Given the description of an element on the screen output the (x, y) to click on. 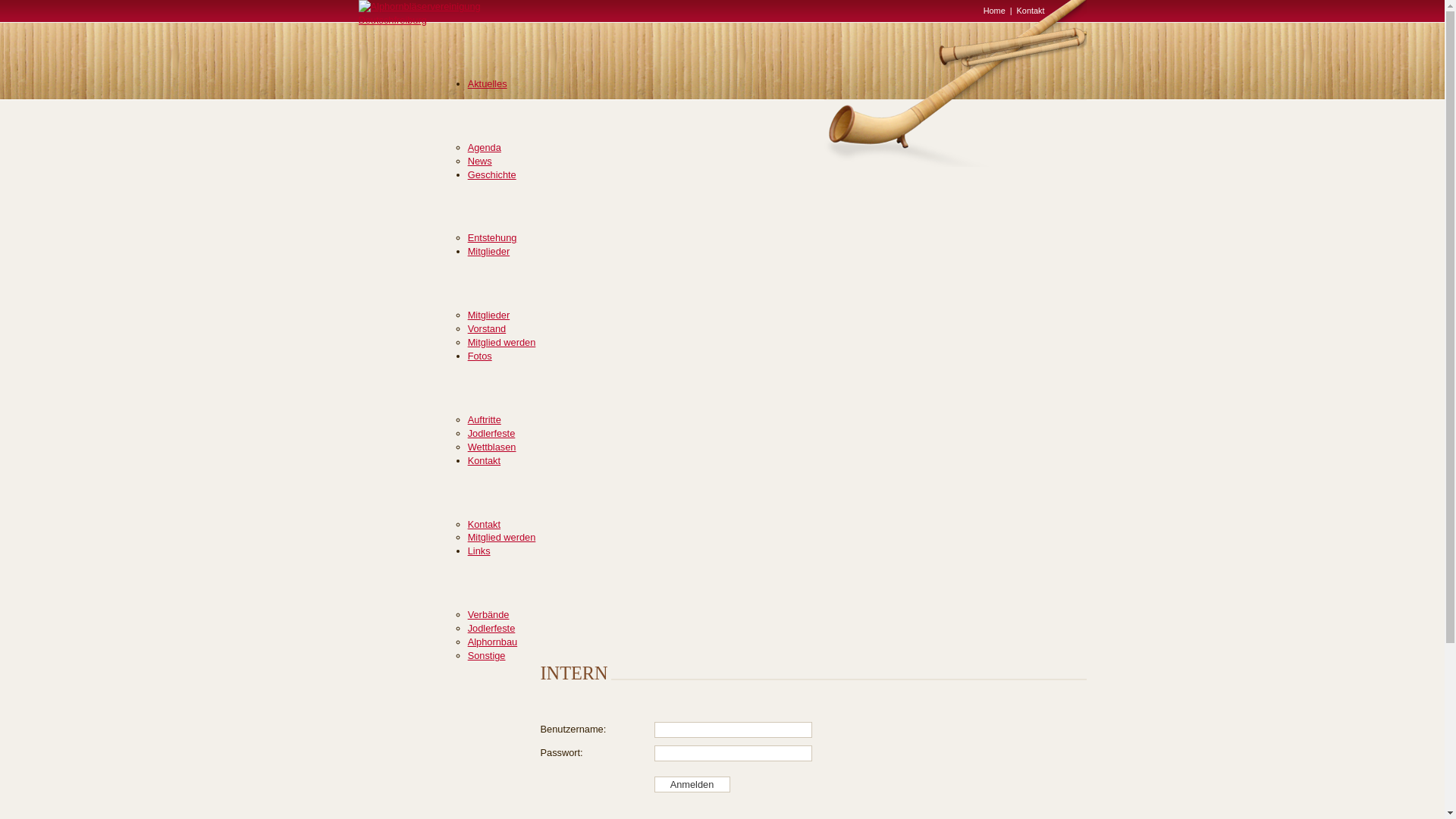
Aktuelles Element type: text (487, 83)
Mitglied werden Element type: text (501, 342)
Home Element type: text (994, 10)
Mitglieder Element type: text (488, 314)
Vorstand Element type: text (486, 328)
Mitglieder Element type: text (488, 251)
Agenda Element type: text (484, 147)
Wettblasen Element type: text (491, 446)
Auftritte Element type: text (484, 419)
Jodlerfeste Element type: text (491, 627)
Alphornbau Element type: text (492, 641)
Geschichte Element type: text (491, 174)
Kontakt Element type: text (483, 460)
Kontakt Element type: text (1030, 10)
Anmelden Element type: text (691, 784)
Kontakt Element type: text (483, 524)
Jodlerfeste Element type: text (491, 433)
Sonstige Element type: text (486, 655)
Links Element type: text (478, 550)
Fotos Element type: text (479, 355)
Entstehung Element type: text (492, 237)
Mitglied werden Element type: text (501, 536)
News Element type: text (479, 160)
